Given the description of an element on the screen output the (x, y) to click on. 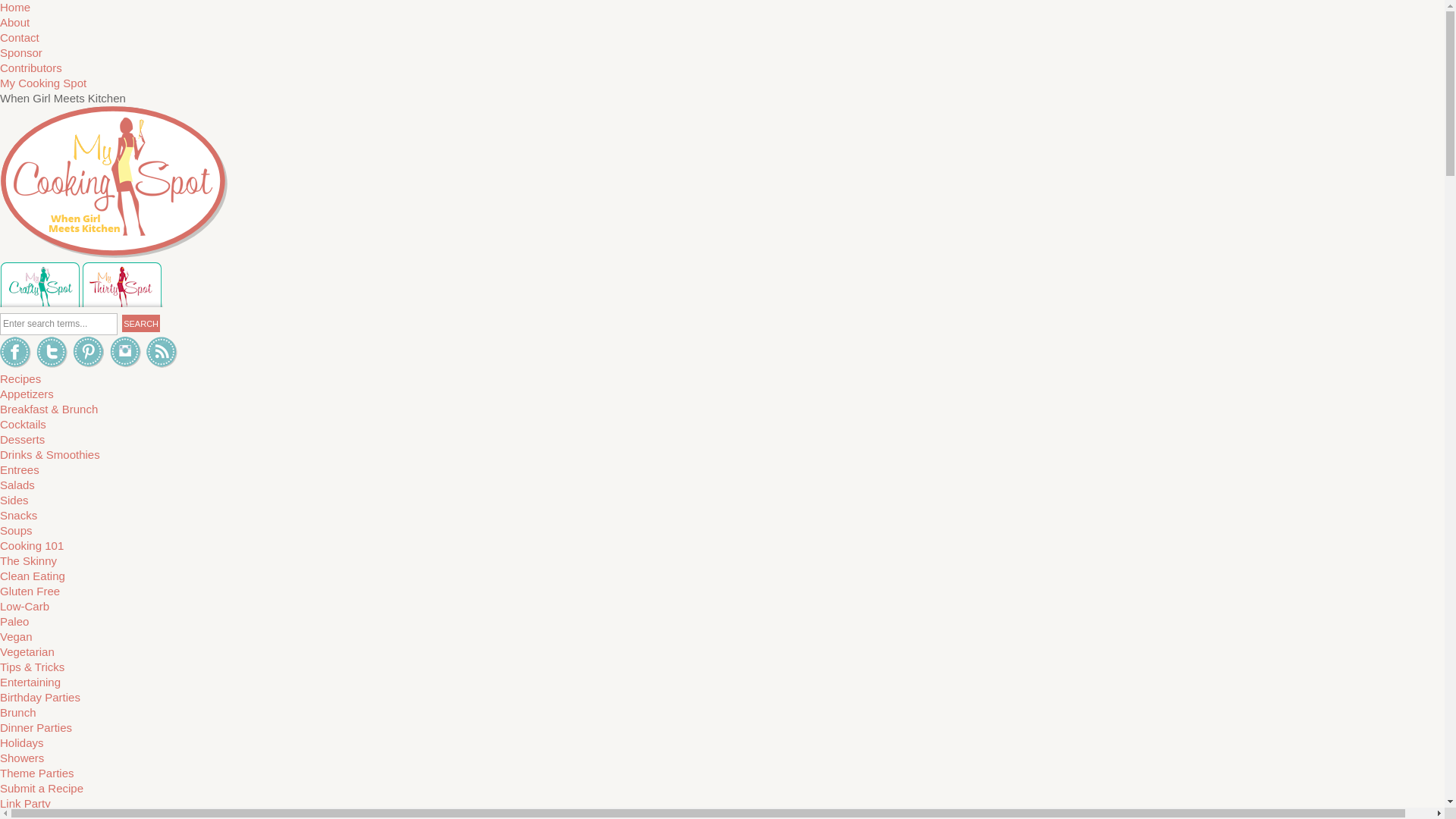
Paleo (14, 621)
SEARCH (141, 323)
Birthday Parties (40, 697)
Home (15, 6)
Soups (16, 530)
Low-Carb (24, 605)
Cocktails (23, 423)
Cooking 101 (32, 545)
About (14, 21)
Brunch (18, 712)
